Given the description of an element on the screen output the (x, y) to click on. 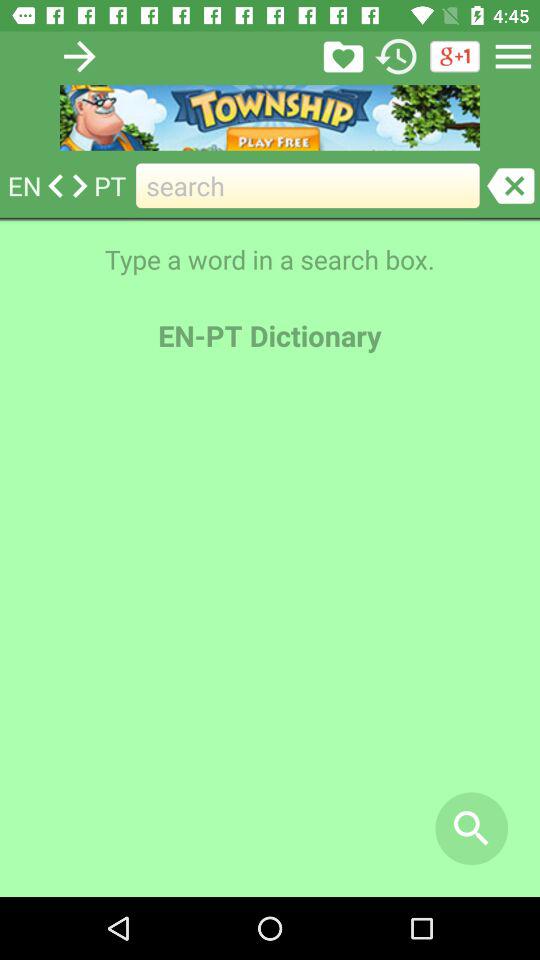
search field entry (510, 185)
